Given the description of an element on the screen output the (x, y) to click on. 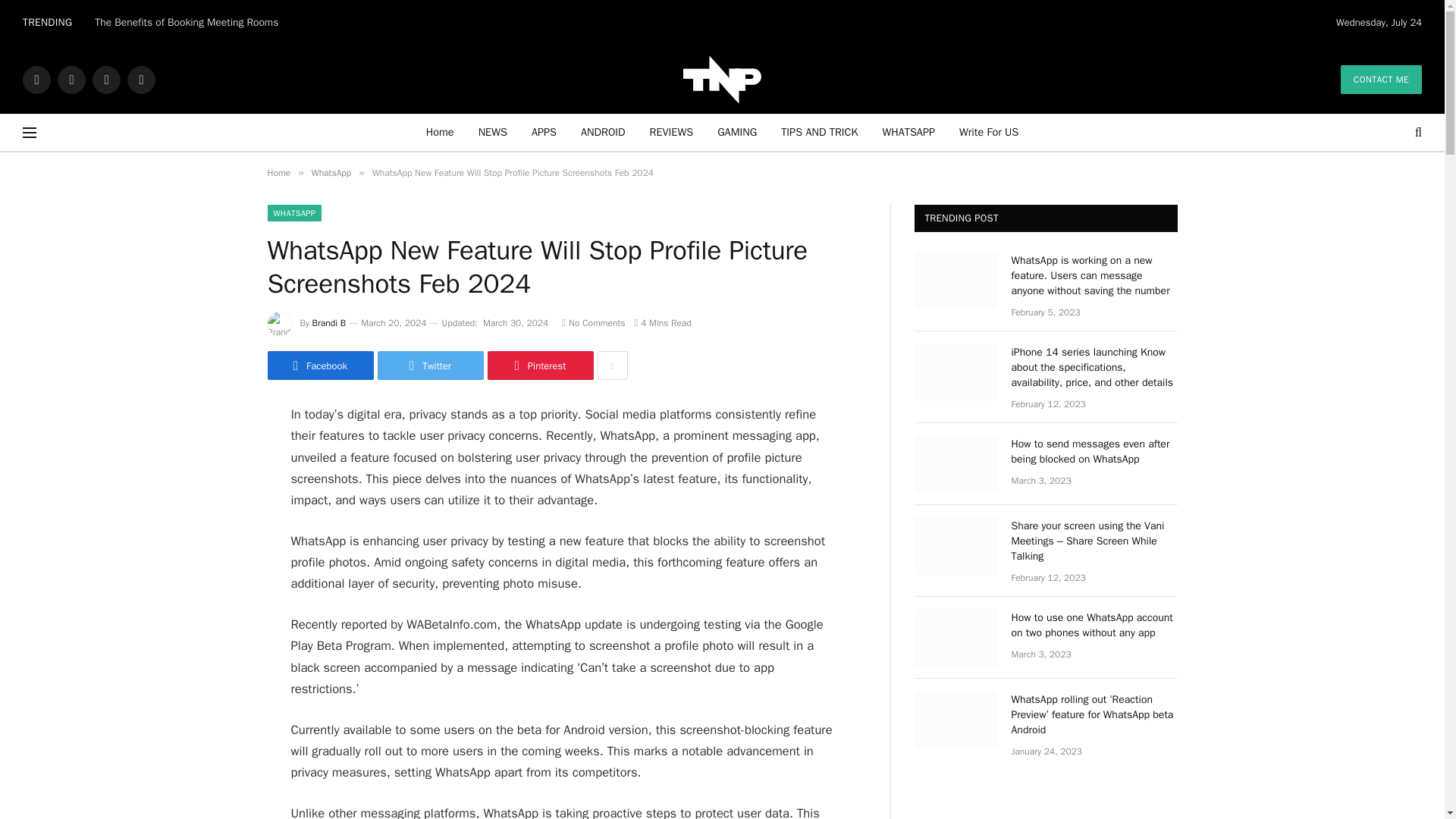
Show More Social Sharing (611, 365)
REVIEWS (671, 132)
Write For US (988, 132)
WhatsApp (141, 79)
WHATSAPP (908, 132)
Instagram (106, 79)
NEWS (492, 132)
Posts by Brandi B (329, 322)
Facebook (36, 79)
ANDROID (603, 132)
TechNewzTOP (722, 79)
The Benefits of Booking Meeting Rooms (189, 22)
GAMING (736, 132)
Home (439, 132)
CONTACT ME (1381, 79)
